Given the description of an element on the screen output the (x, y) to click on. 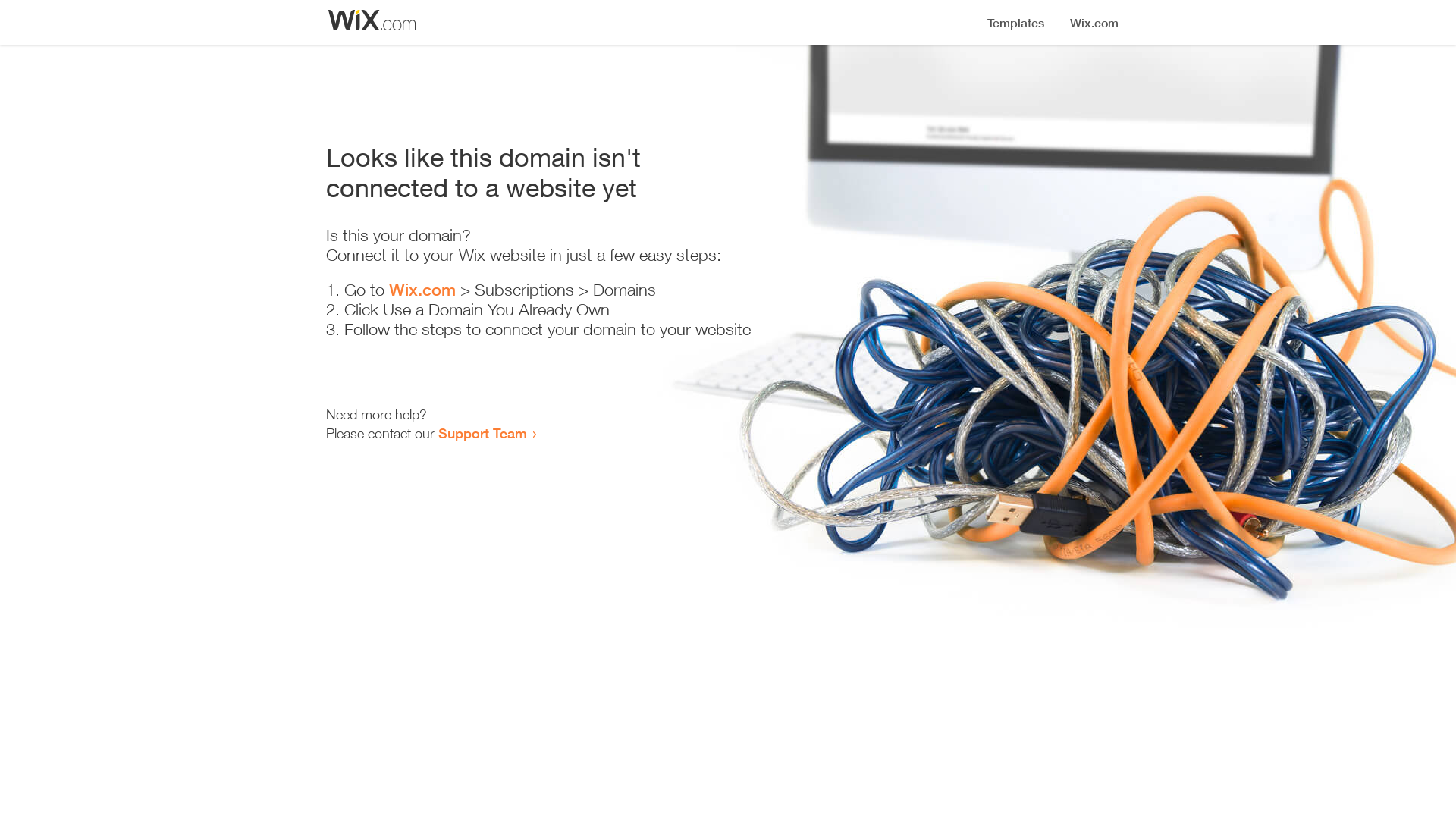
Support Team Element type: text (482, 432)
Wix.com Element type: text (422, 289)
